Given the description of an element on the screen output the (x, y) to click on. 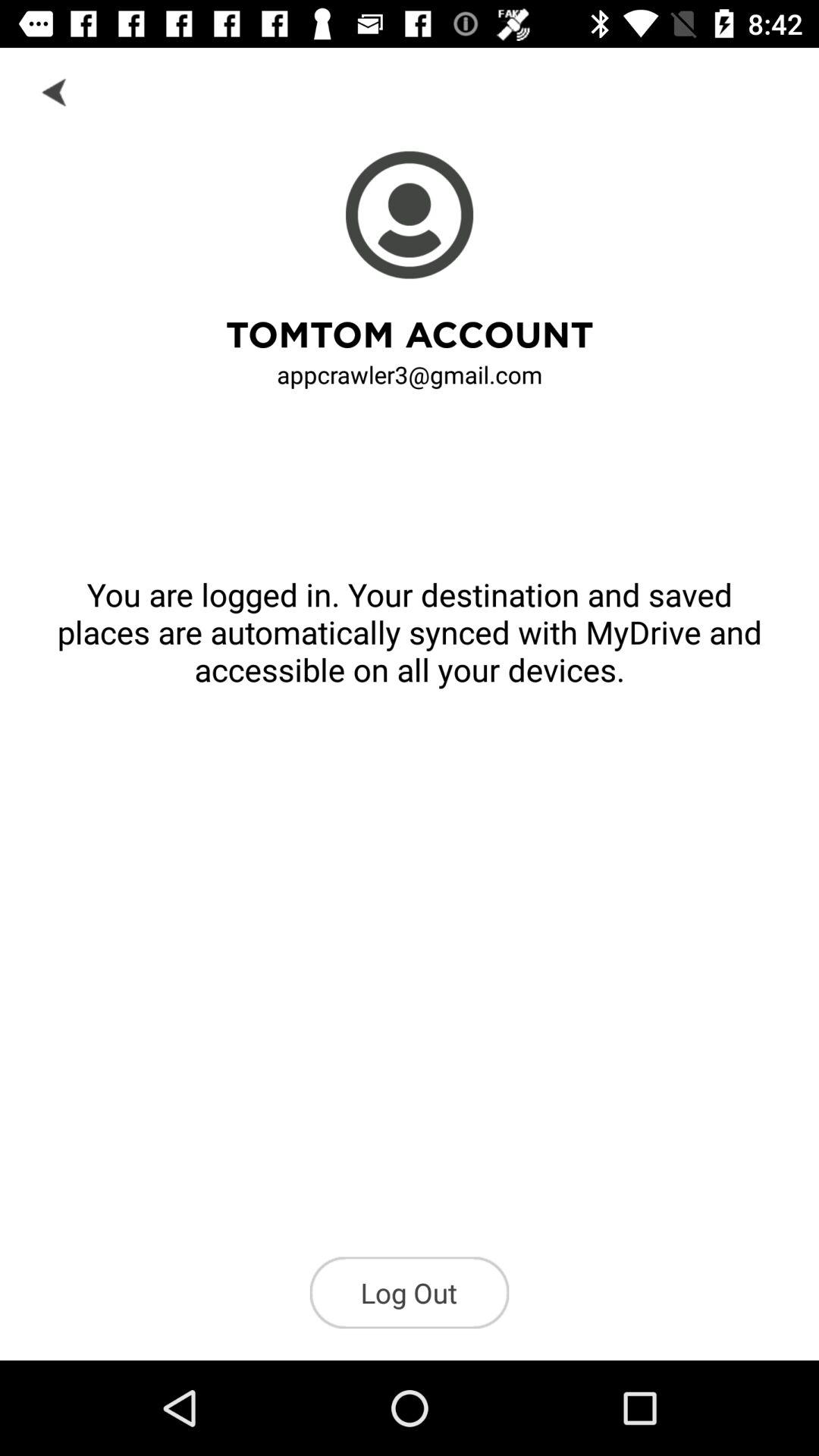
go back (55, 91)
